Given the description of an element on the screen output the (x, y) to click on. 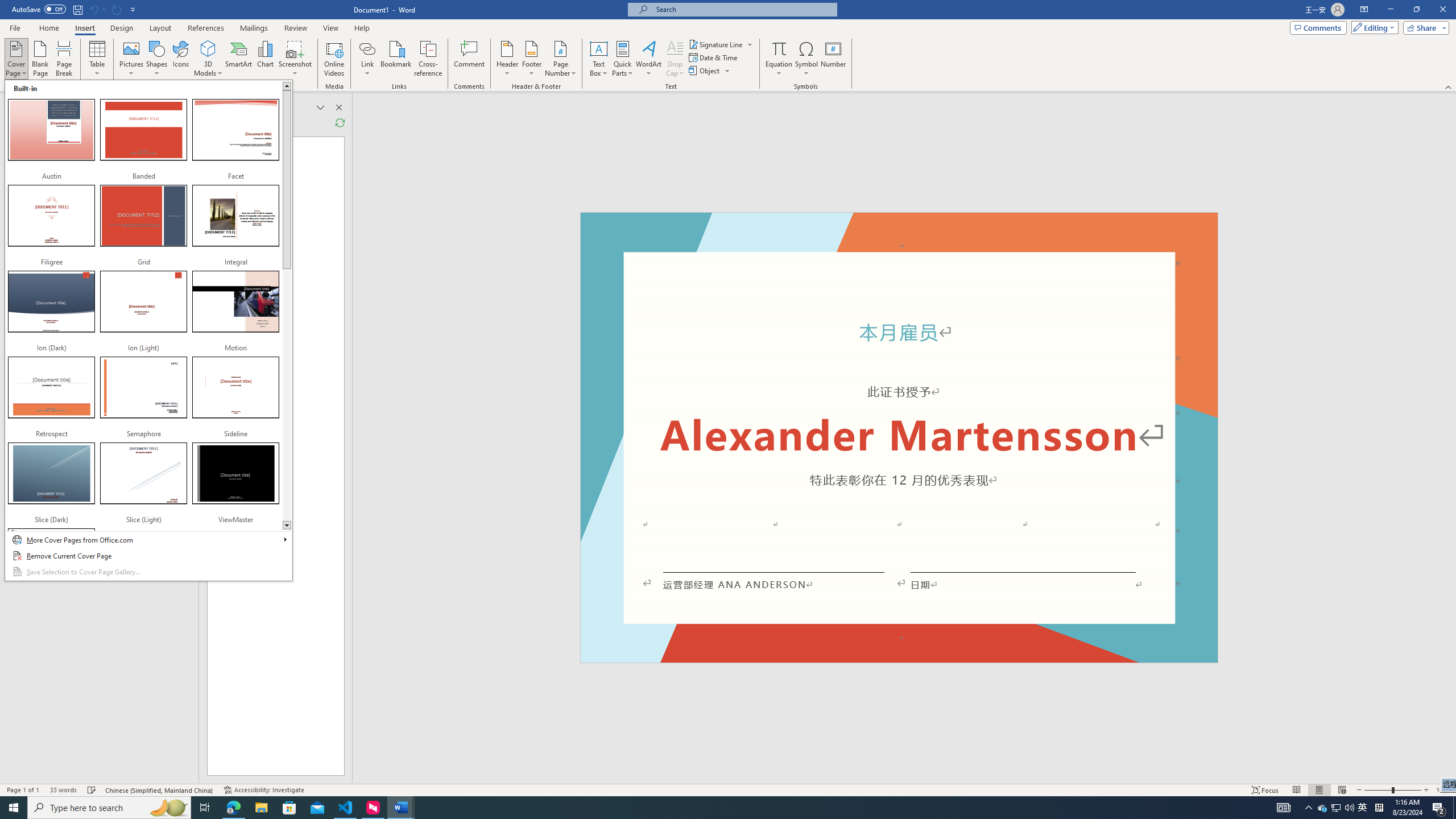
Spelling and Grammar Check Checking (91, 790)
Microsoft Edge - 1 running window (233, 807)
Equation (778, 58)
Equation (778, 48)
